Given the description of an element on the screen output the (x, y) to click on. 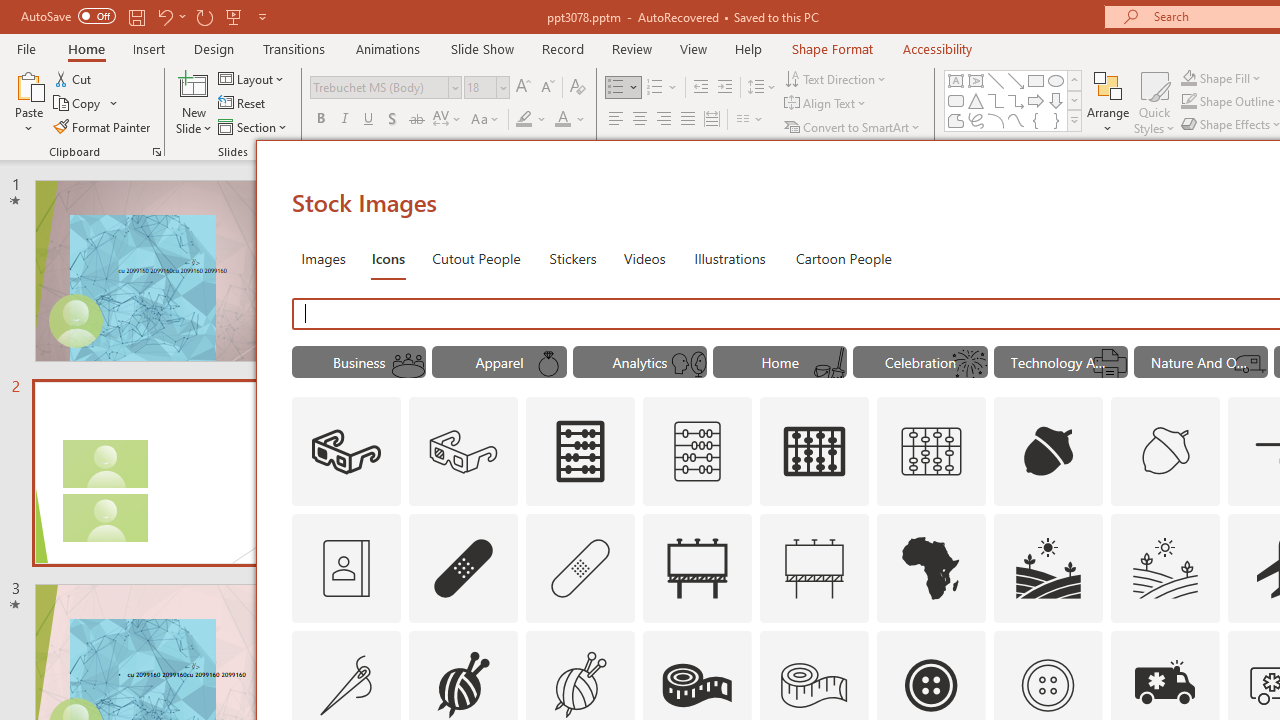
Arrange (1108, 102)
Decrease Indent (700, 87)
Convert to SmartArt (853, 126)
"Analytics" Icons. (639, 362)
AutomationID: Icons_Agriculture (1048, 568)
Arrow: Right (1035, 100)
Shape Outline Green, Accent 1 (1188, 101)
